Given the description of an element on the screen output the (x, y) to click on. 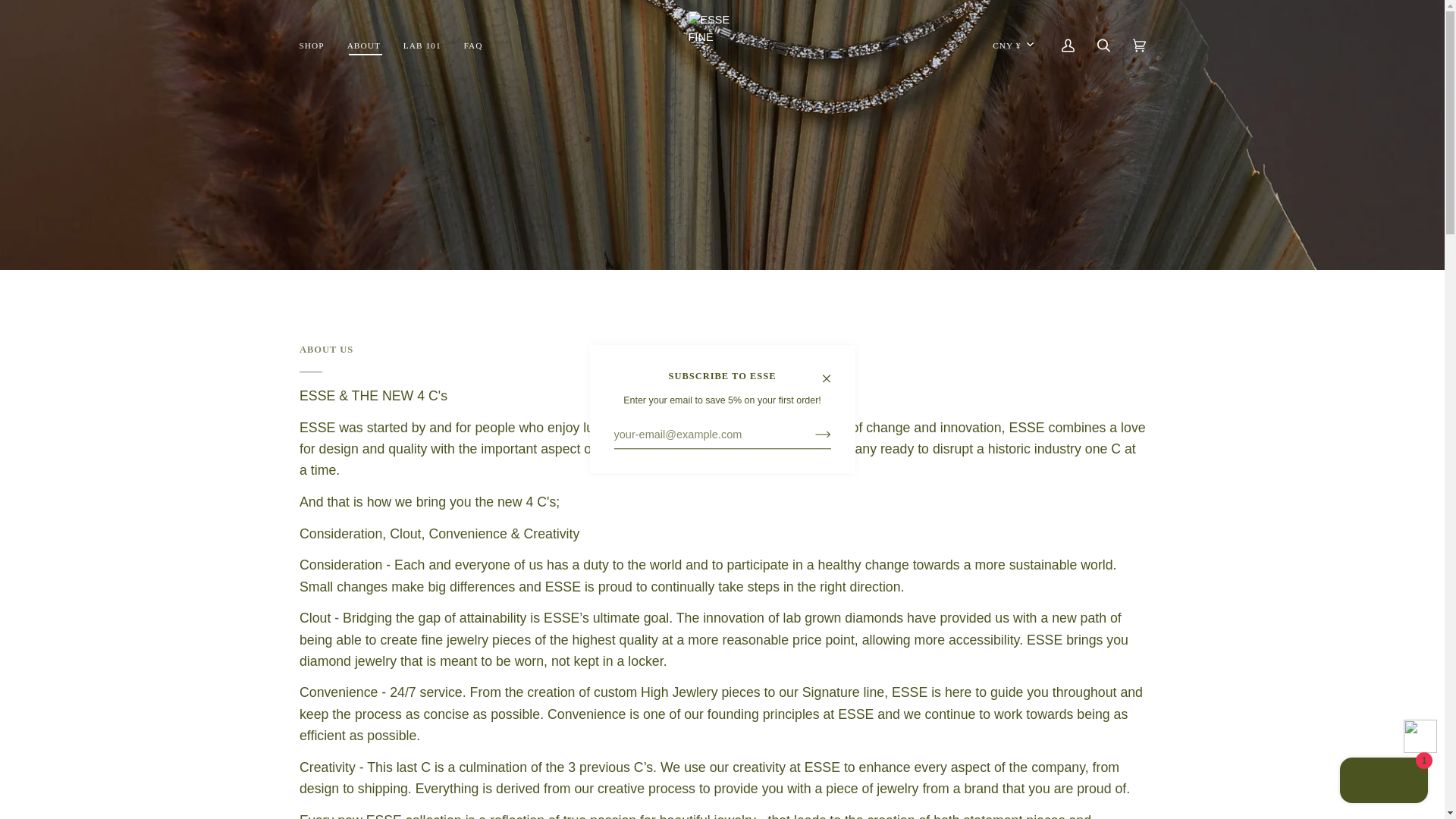
Close (831, 371)
LAB 101 (421, 45)
My Account (1066, 45)
Shopify online store chat (1383, 781)
FAQ (473, 45)
ABOUT (363, 45)
Search (1103, 45)
SHOP (312, 45)
